Given the description of an element on the screen output the (x, y) to click on. 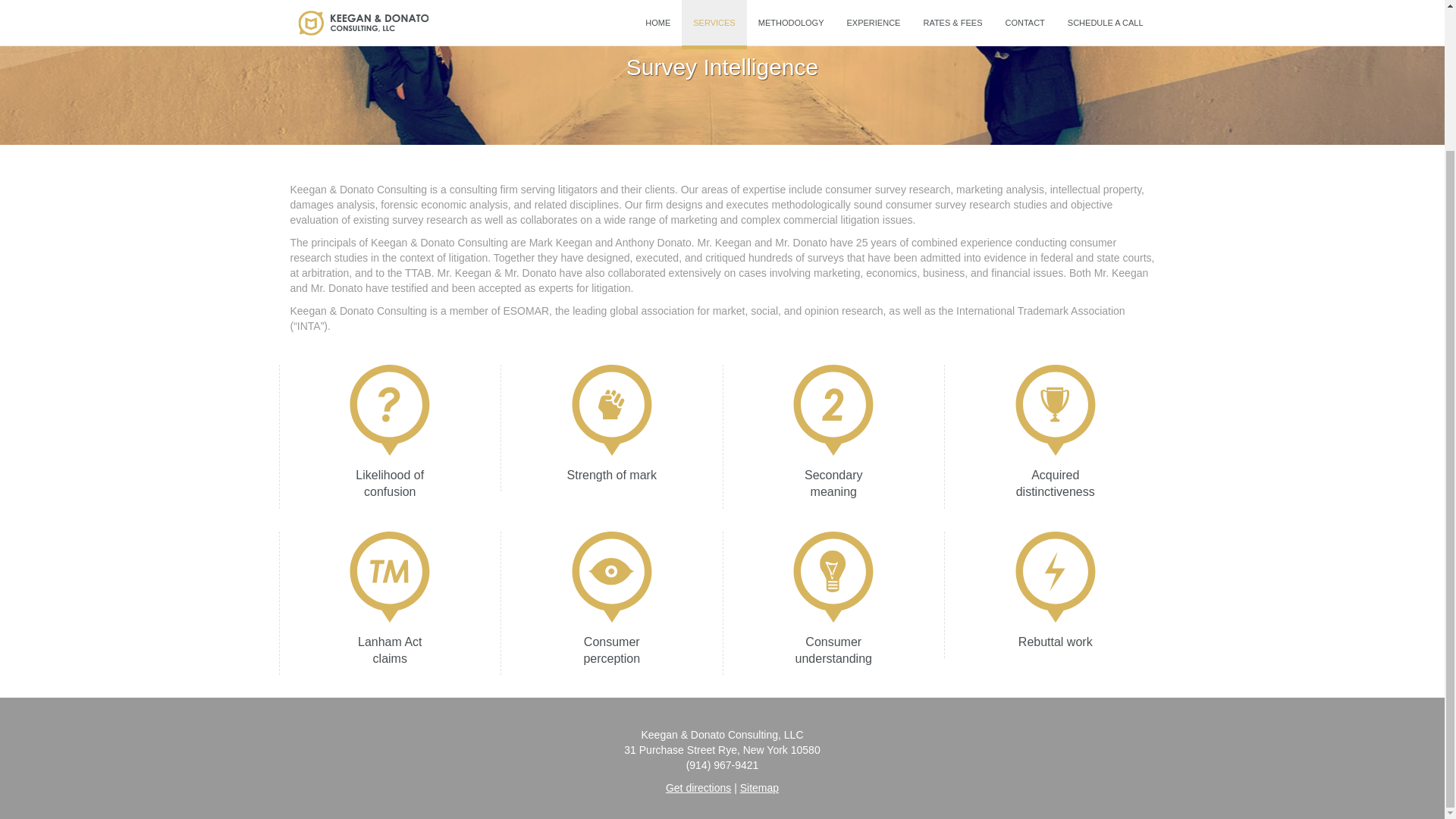
Secondary meaning (832, 436)
Consumer perception (611, 603)
Likelihood of confusion (389, 436)
Consumer understanding (832, 603)
Get directions (697, 787)
Rebuttal work (1054, 594)
Sitemap (758, 787)
Lanham Act claims (389, 603)
Strength of mark (611, 427)
Acquired distinctiveness (1054, 436)
